Given the description of an element on the screen output the (x, y) to click on. 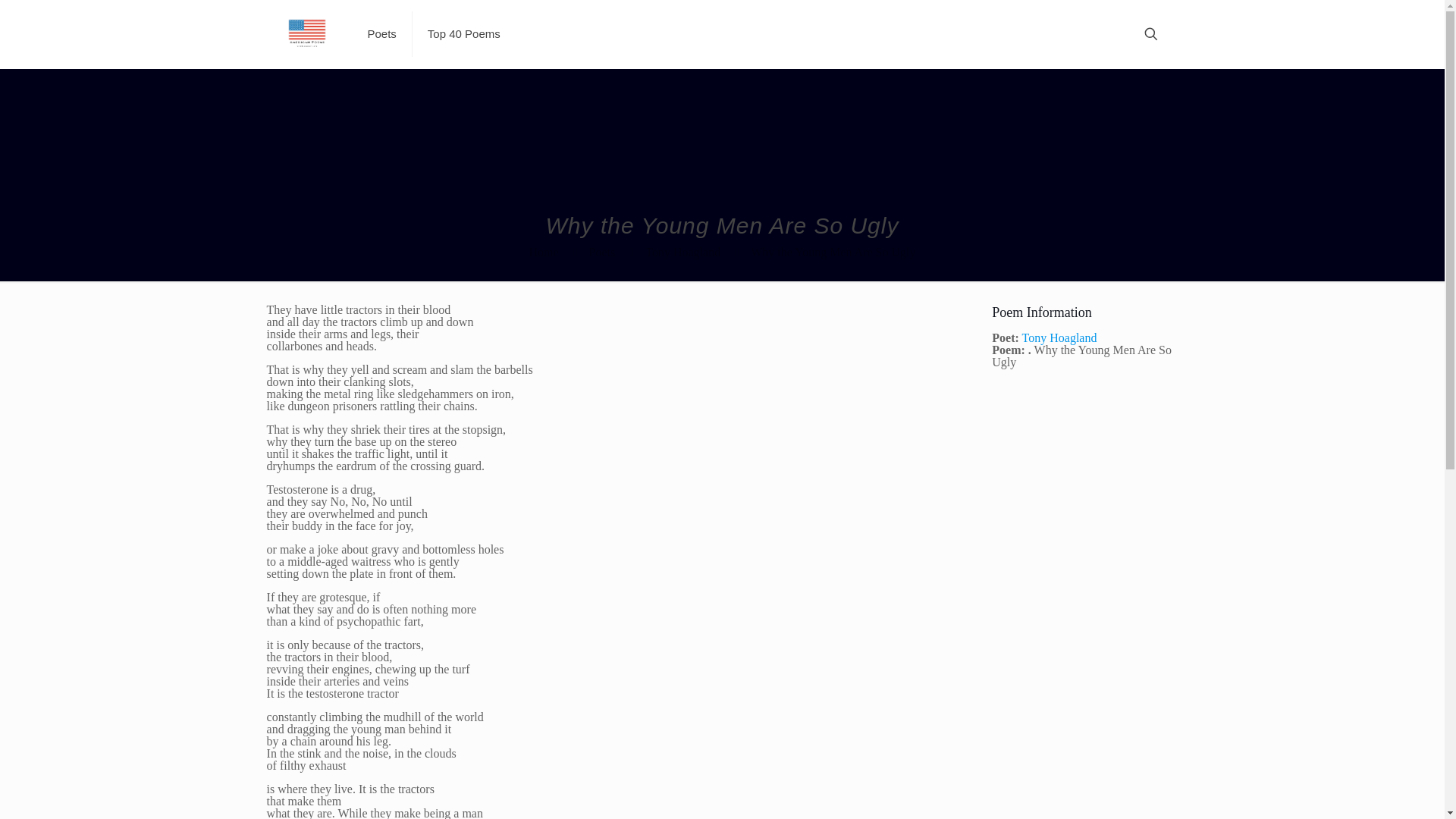
Why the Young Men Are So Ugly (833, 251)
Tony Hoagland (682, 251)
Poets (602, 251)
Tony Hoagland (1059, 337)
Top 40 Poems (463, 33)
Home (544, 251)
